Given the description of an element on the screen output the (x, y) to click on. 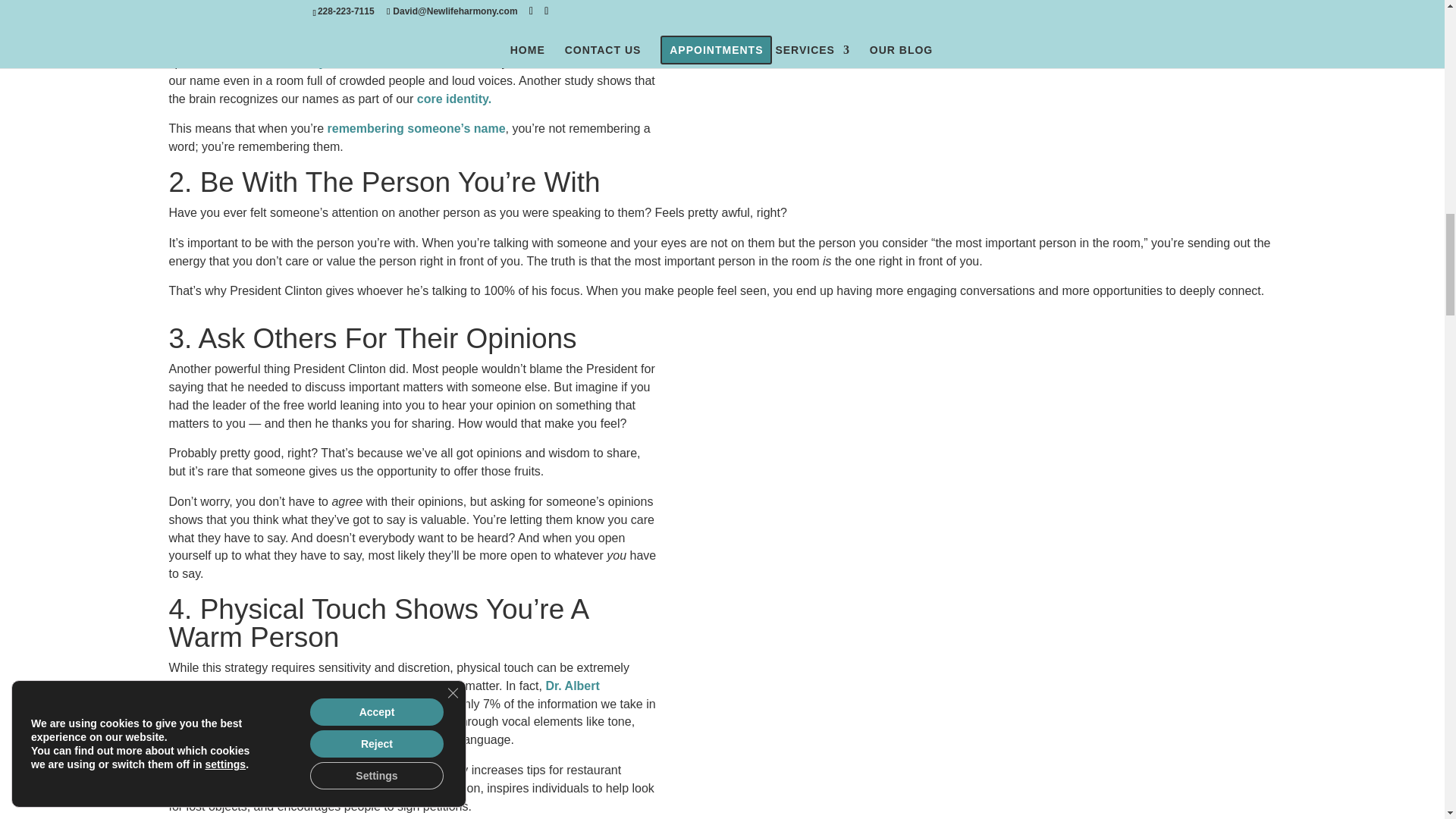
physical contact (246, 769)
Dr. Albert Mehrabian (383, 694)
core identity. (454, 98)
